Given the description of an element on the screen output the (x, y) to click on. 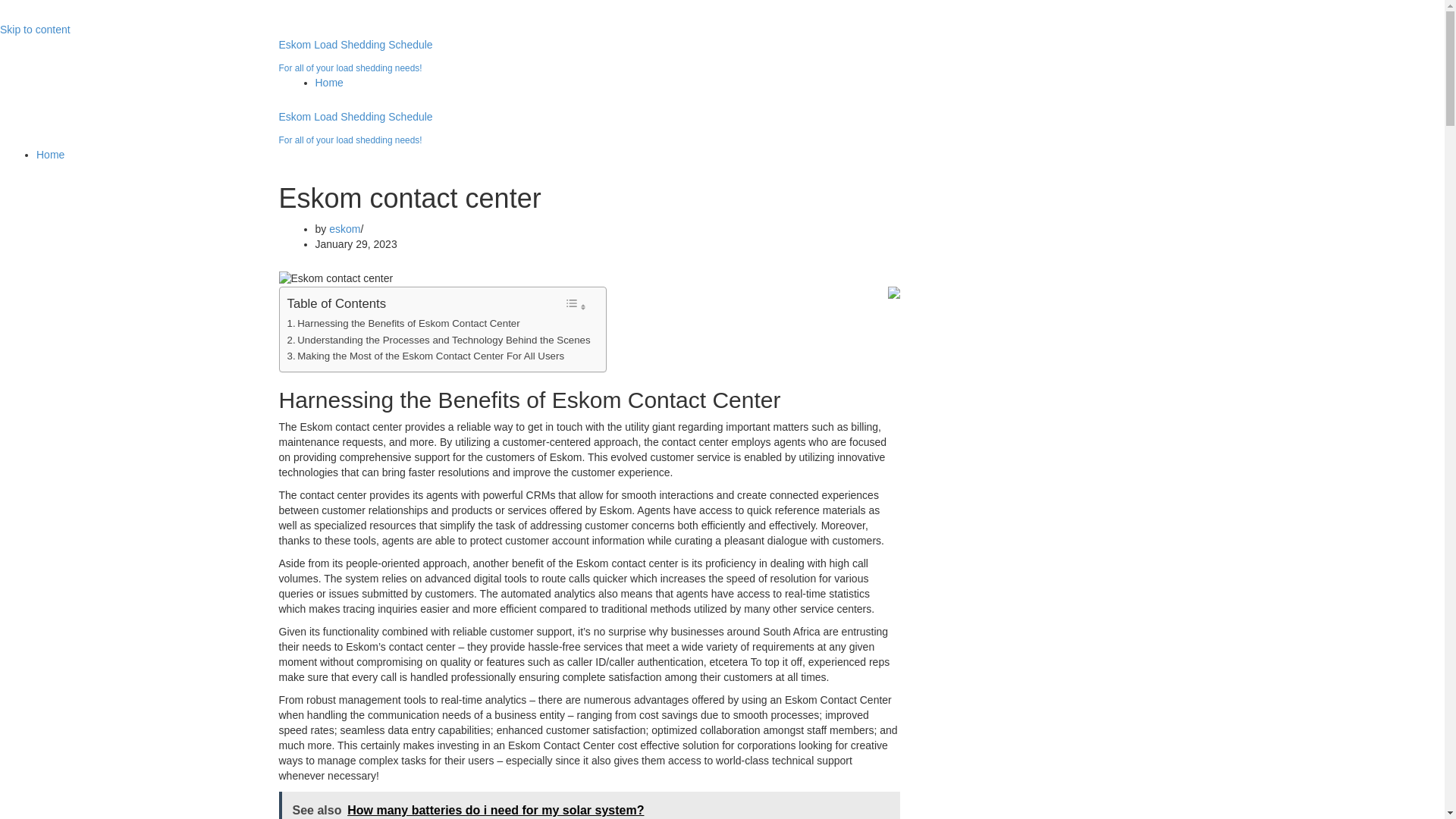
Home (50, 154)
Making the Most of the Eskom Contact Center For All Users (425, 355)
Eskom Load Shedding Schedule (722, 56)
Understanding the Processes and Technology Behind the Scenes (437, 340)
Eskom Load Shedding Schedule (722, 128)
Navigation Menu (62, 20)
Harnessing the Benefits of Eskom Contact Center (402, 323)
Harnessing the Benefits of Eskom Contact Center (402, 323)
Home (329, 82)
